Given the description of an element on the screen output the (x, y) to click on. 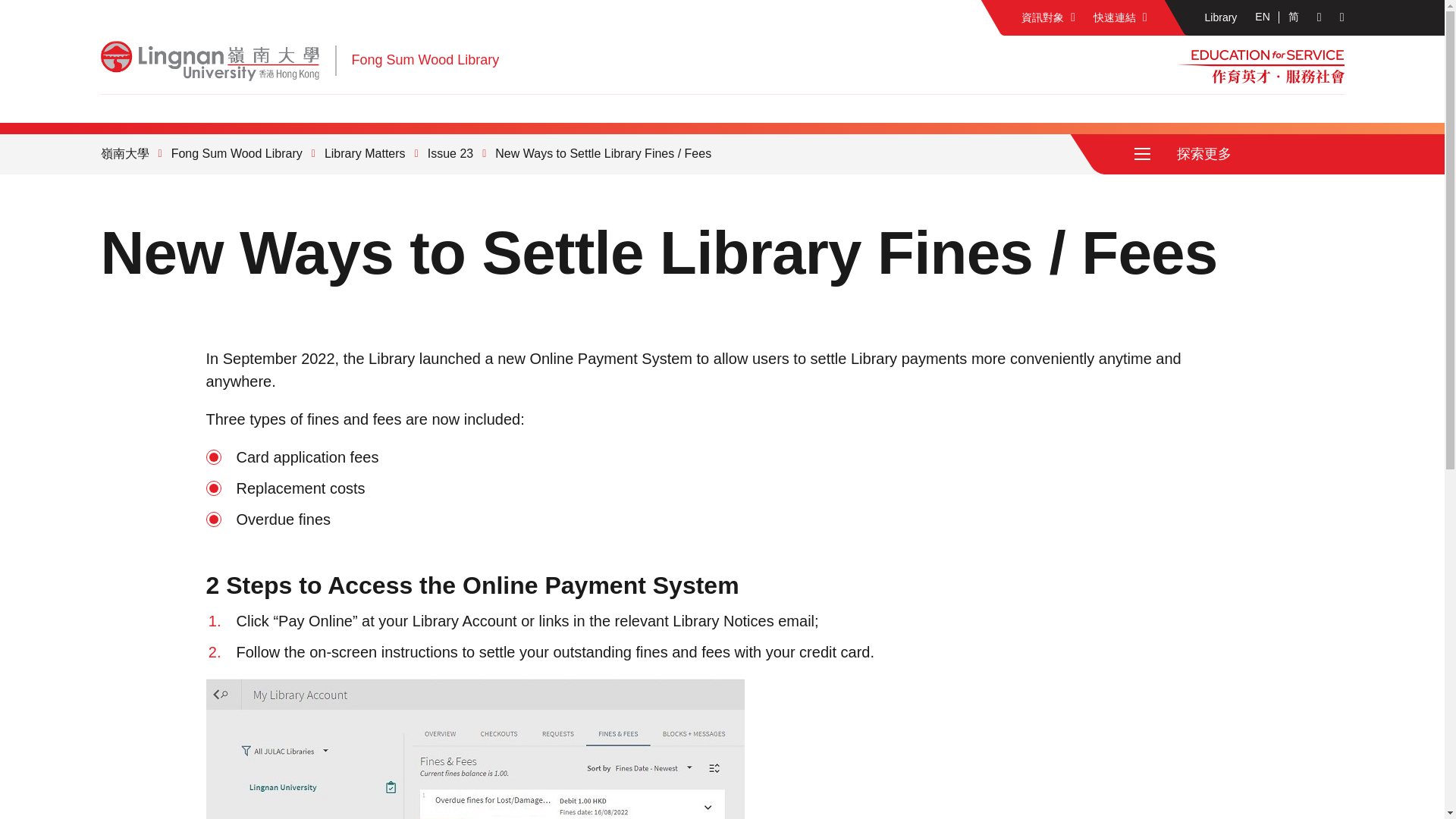
Fong Sum Wood Library (425, 59)
EN (1262, 16)
Library (1221, 18)
